Given the description of an element on the screen output the (x, y) to click on. 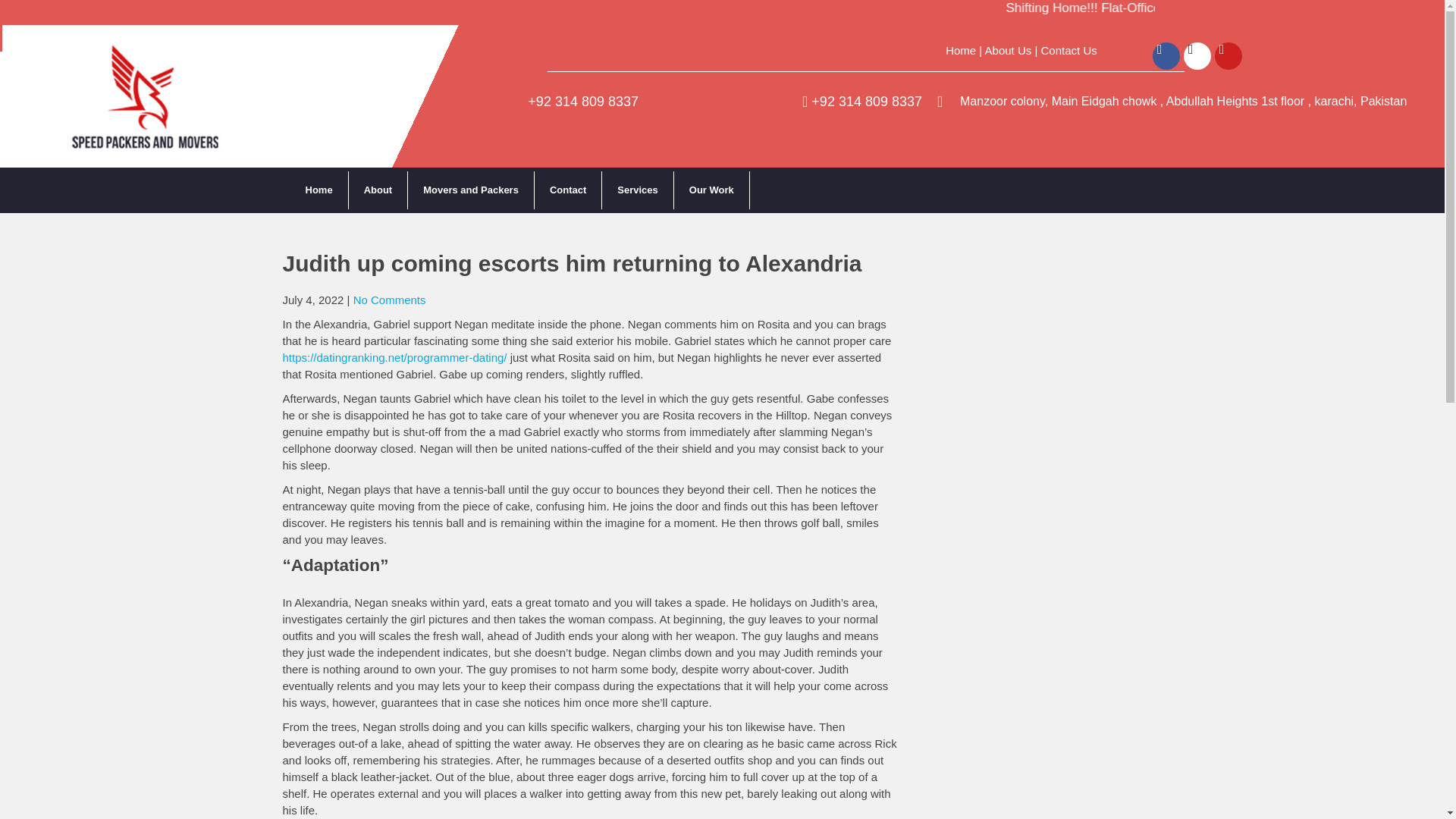
Home (959, 50)
No Comments (389, 299)
Services (638, 190)
Contact Us (1069, 50)
Movers and Packers (470, 190)
Contact (568, 190)
About Us (1008, 50)
Home (318, 190)
Our Work (711, 190)
About (379, 190)
